Given the description of an element on the screen output the (x, y) to click on. 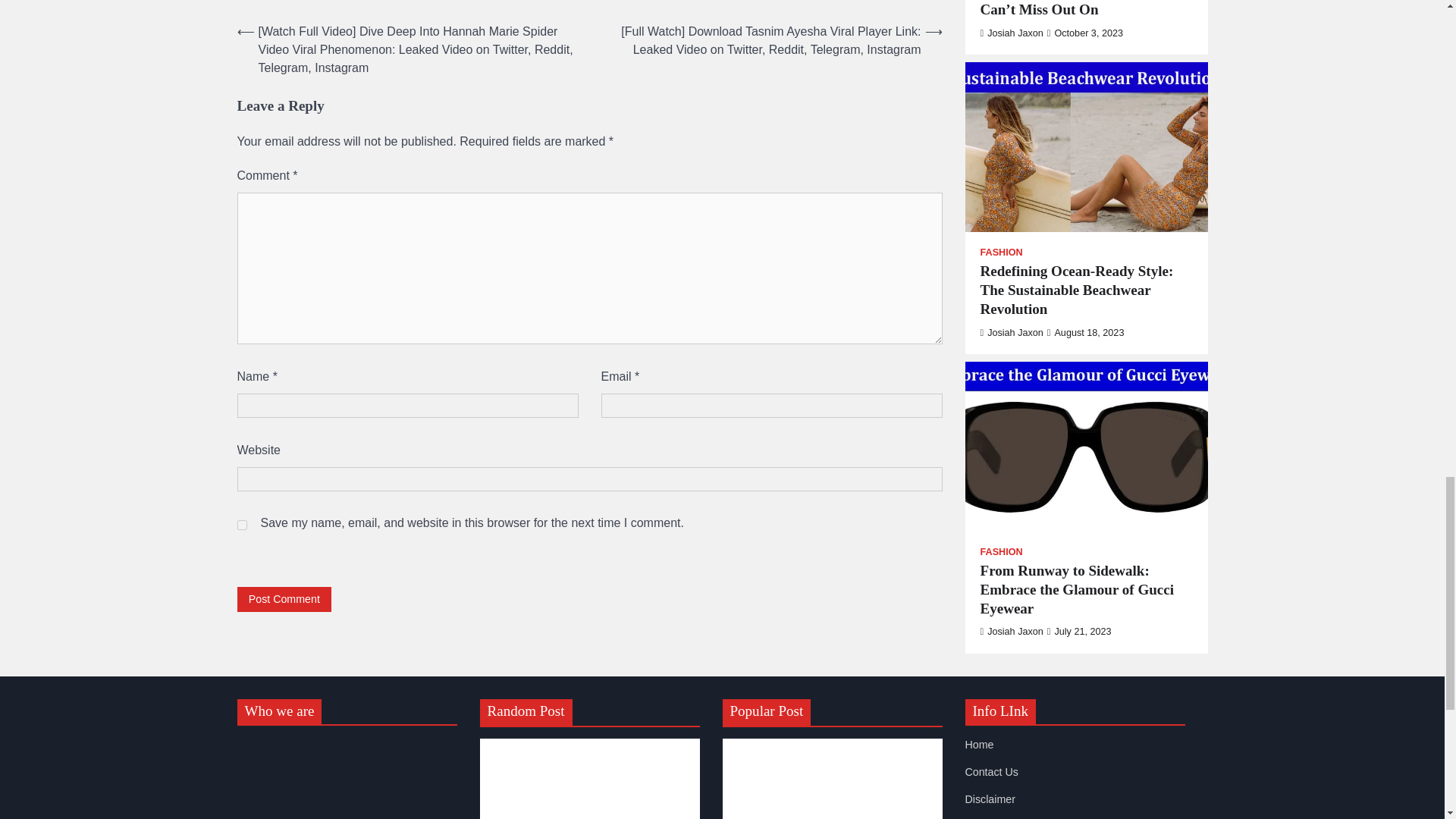
Post Comment (283, 599)
yes (240, 524)
Post Comment (283, 599)
